Given the description of an element on the screen output the (x, y) to click on. 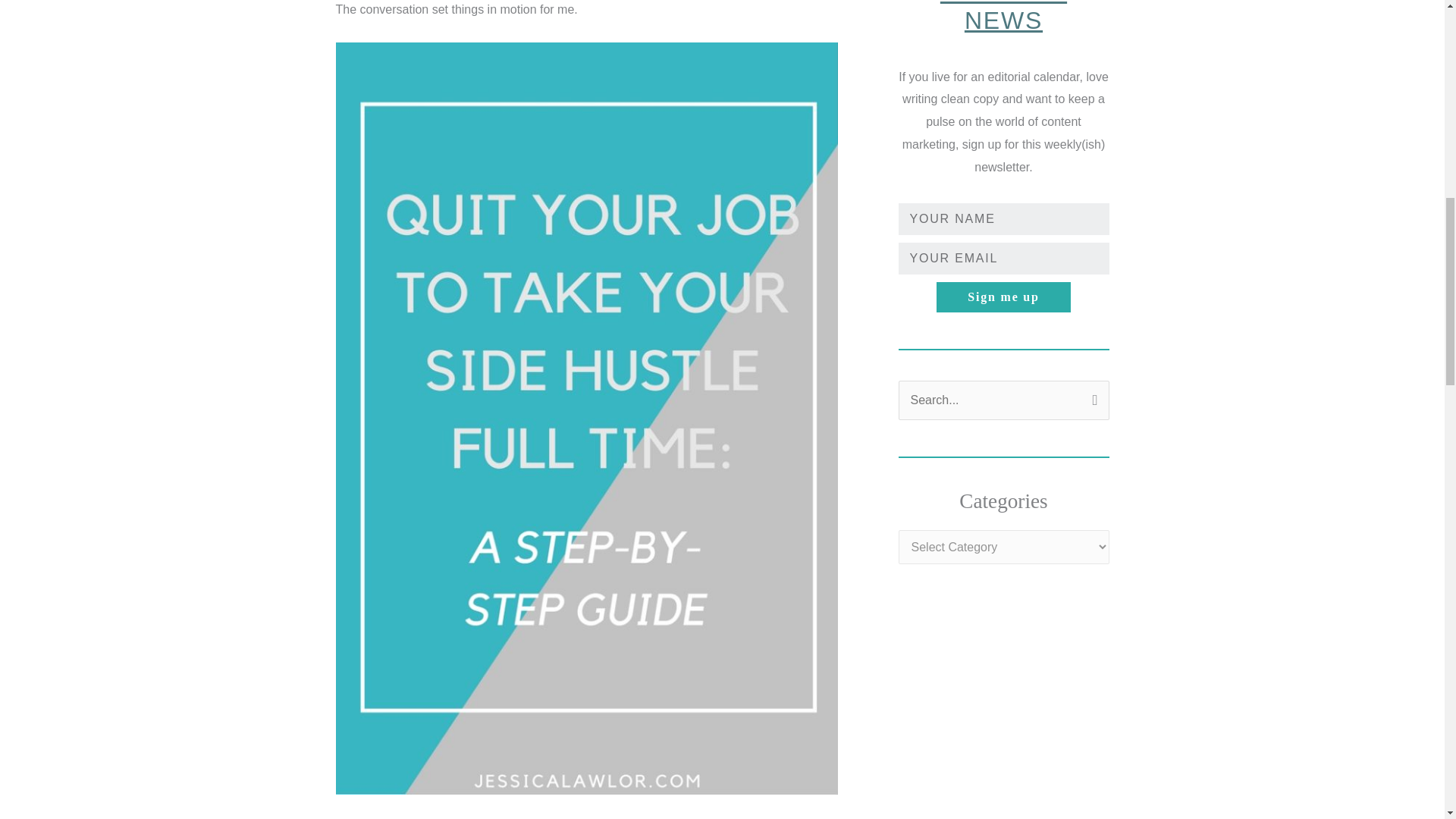
Sign me up (1003, 296)
